Given the description of an element on the screen output the (x, y) to click on. 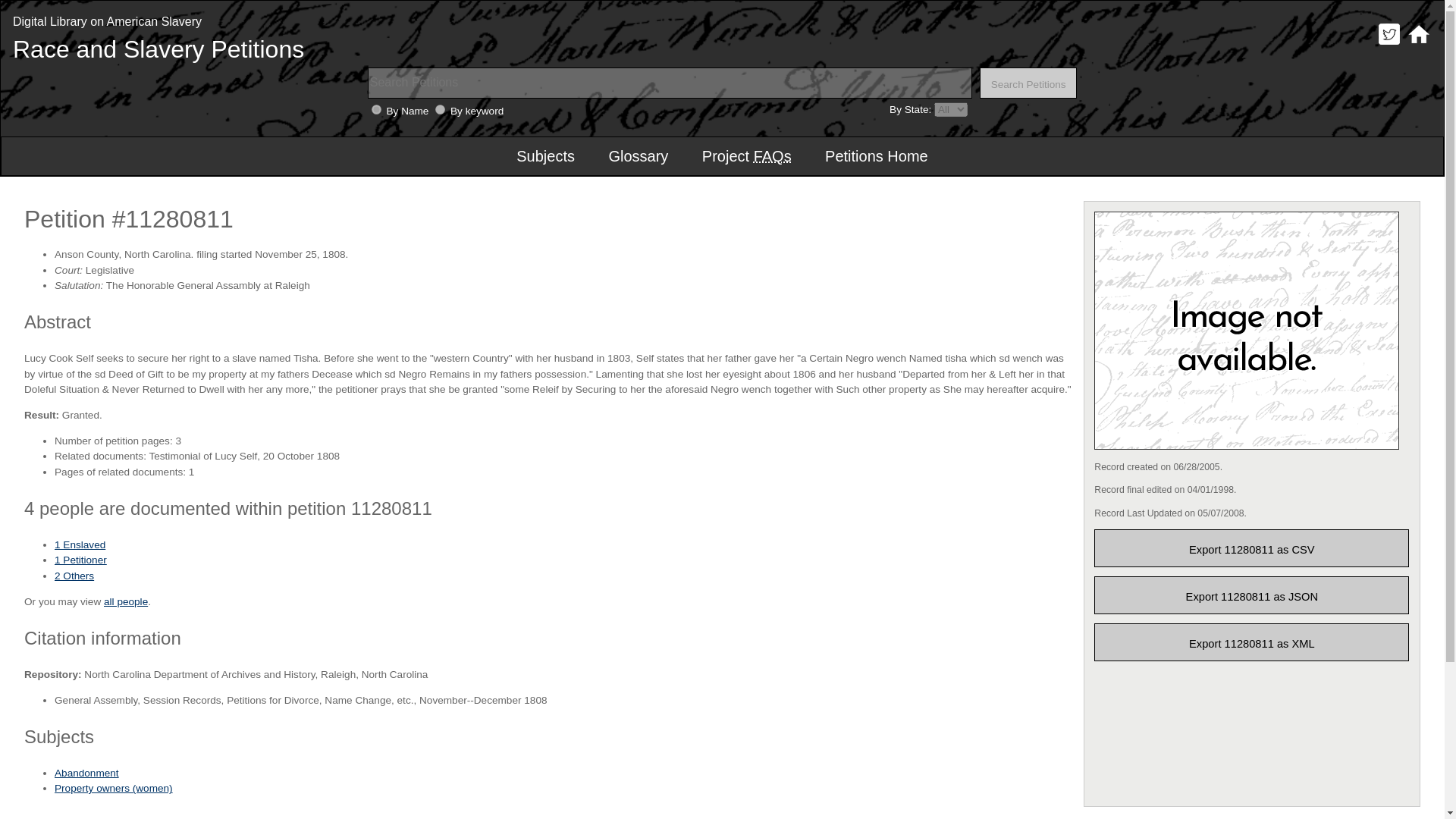
Race and Slavery Petitions (158, 49)
Frequently Asked Questions (773, 156)
Export 11280811 as XML (1251, 641)
Export 11280811 as JSON (1251, 595)
1 Enslaved (79, 544)
view all people in this record (125, 601)
Digital Library on American Slavery (107, 21)
Digital Library on American Slavery Home Page (1418, 43)
Digital Library on American Slavery Twitter (1389, 43)
1 Petitioner (80, 559)
2 Others (74, 575)
Glossary (637, 156)
Abandonment (87, 772)
Project FAQs (746, 156)
export record information as xml (1251, 641)
